Given the description of an element on the screen output the (x, y) to click on. 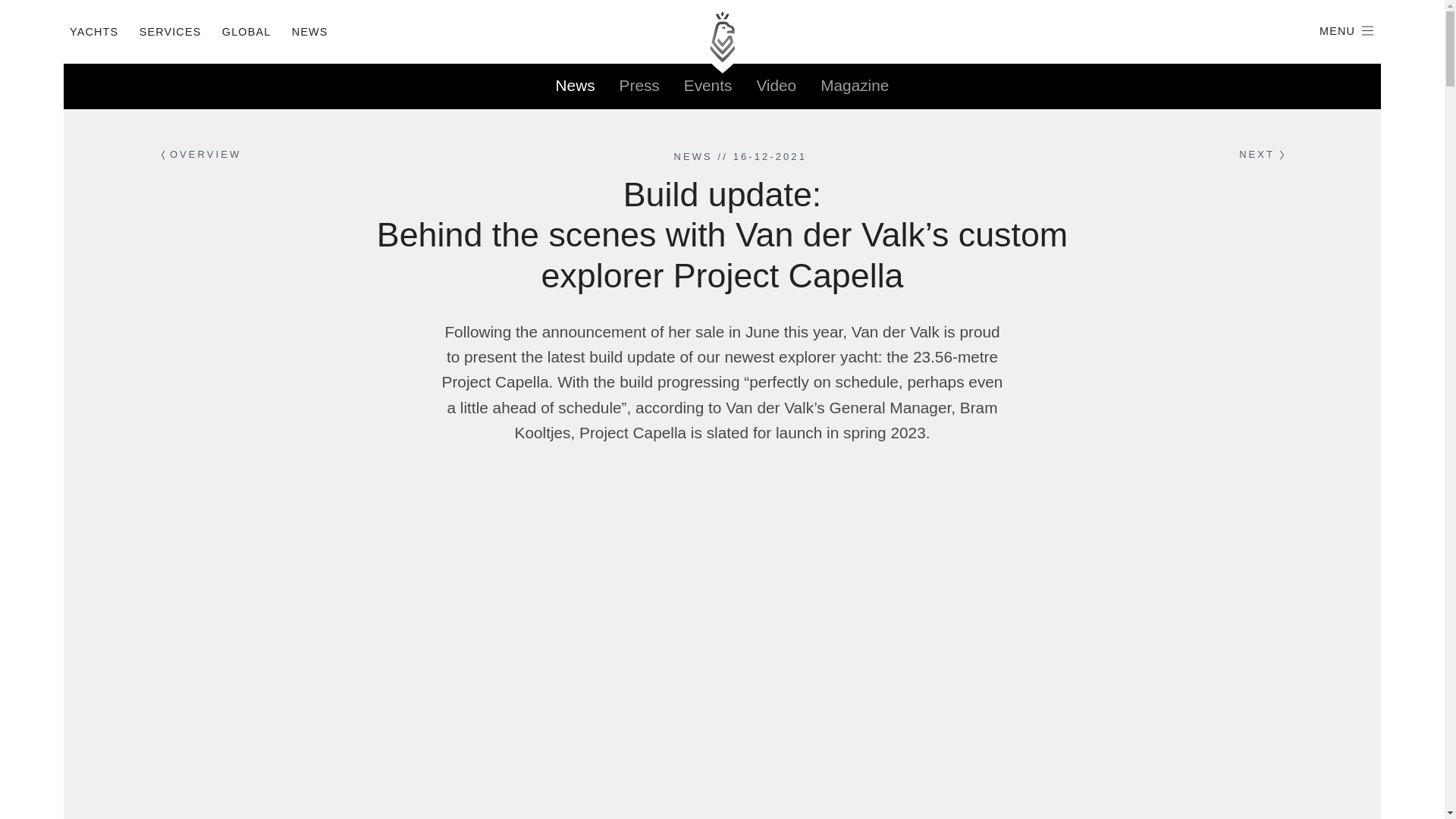
News (575, 85)
Events (707, 85)
NEXT (1260, 154)
Press (639, 85)
Magazine (853, 85)
OVERVIEW (200, 154)
NEWS (691, 156)
Magazine (853, 85)
Return to Homepage (722, 37)
Press (639, 85)
